Given the description of an element on the screen output the (x, y) to click on. 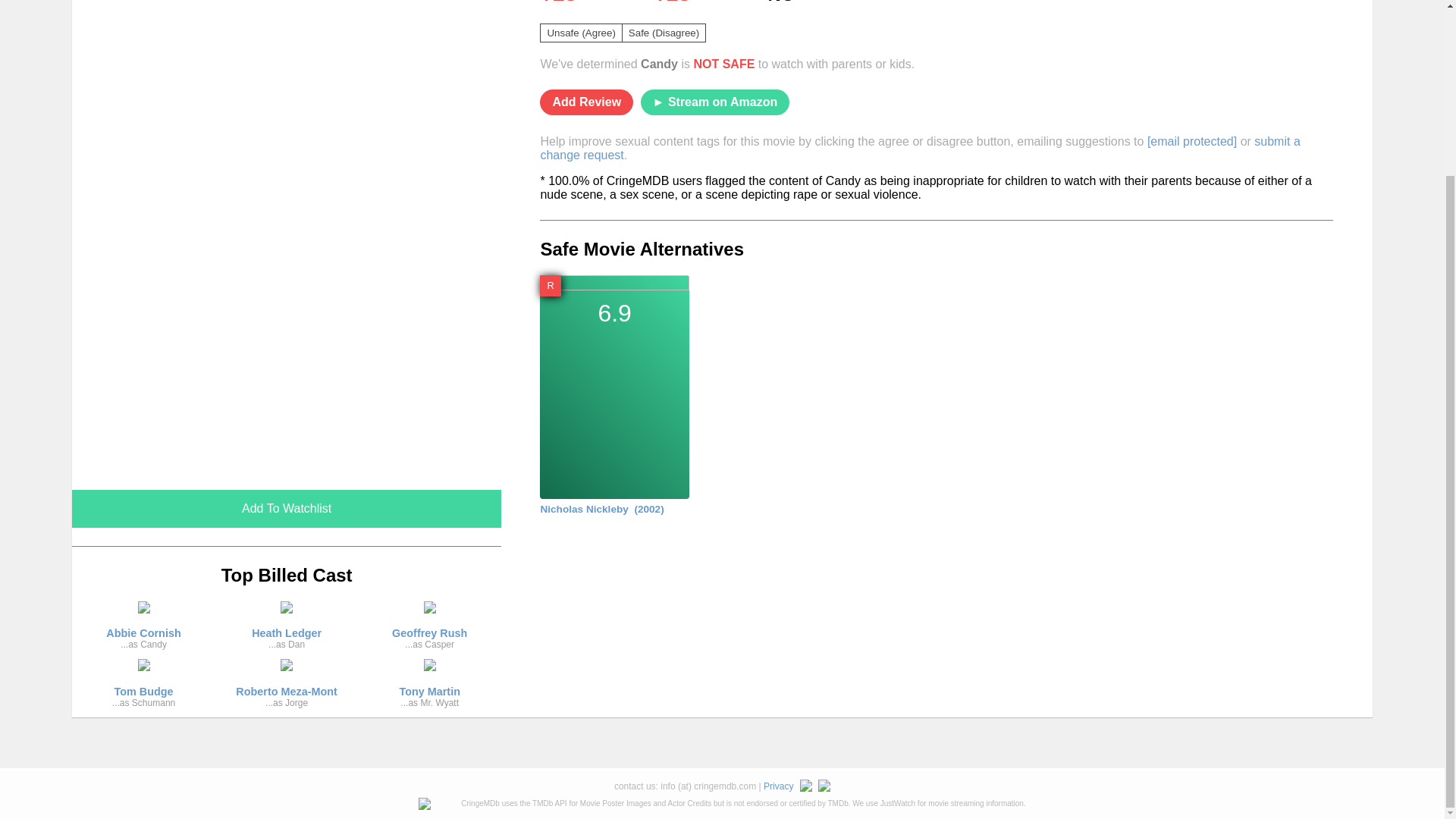
Add To Watchlist (286, 687)
submit a change request (285, 508)
Privacy (143, 630)
Add Review (920, 148)
